Given the description of an element on the screen output the (x, y) to click on. 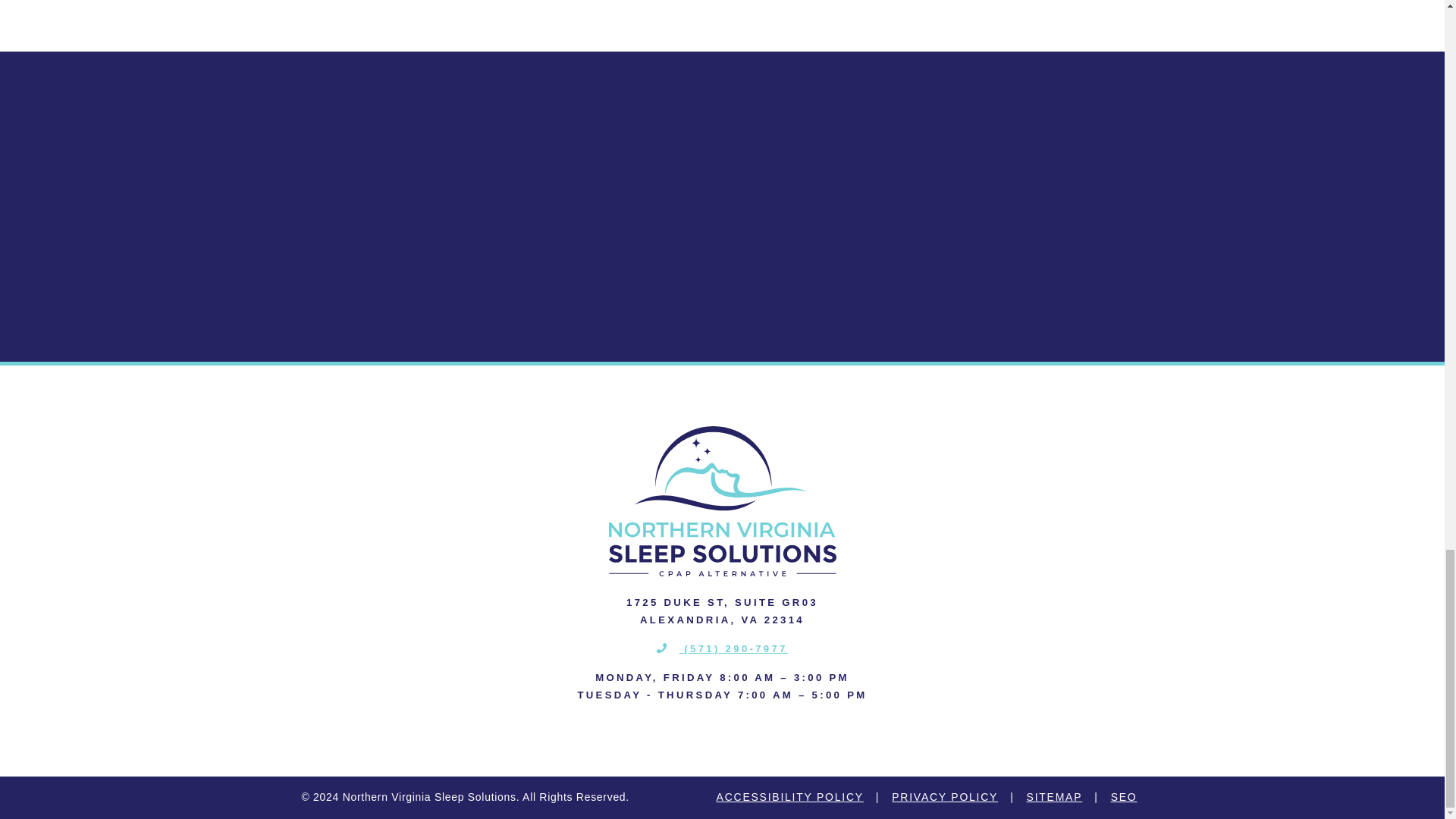
ACCESSIBILITY POLICY (789, 797)
Digital Marketing SEO Agency (1123, 797)
SKIP FOOTER (19, 58)
SEO (1123, 797)
PRIVACY POLICY (944, 797)
SITEMAP (1054, 797)
